Given the description of an element on the screen output the (x, y) to click on. 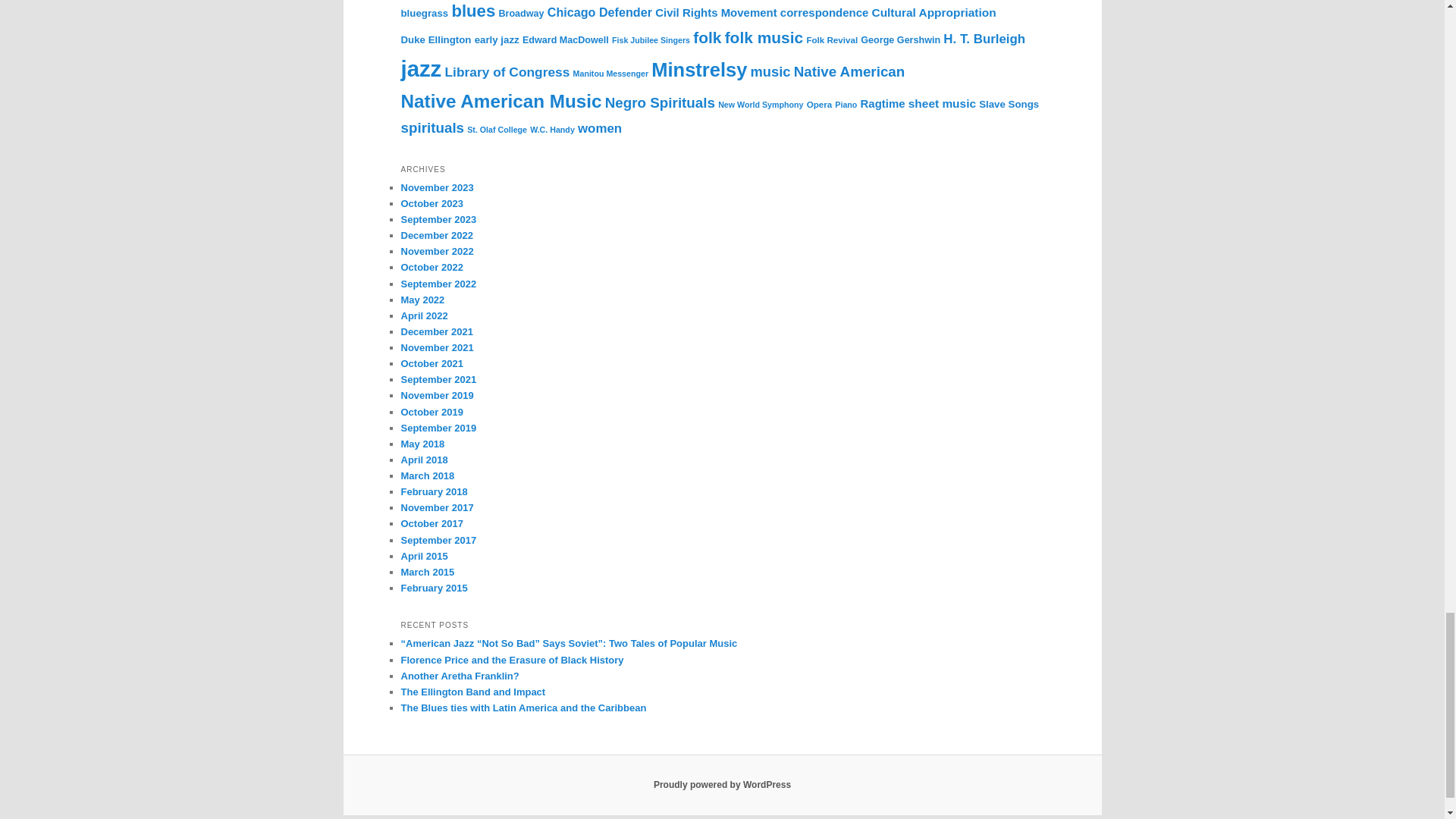
Semantic Personal Publishing Platform (721, 784)
bluegrass (424, 12)
blues (473, 10)
